Given the description of an element on the screen output the (x, y) to click on. 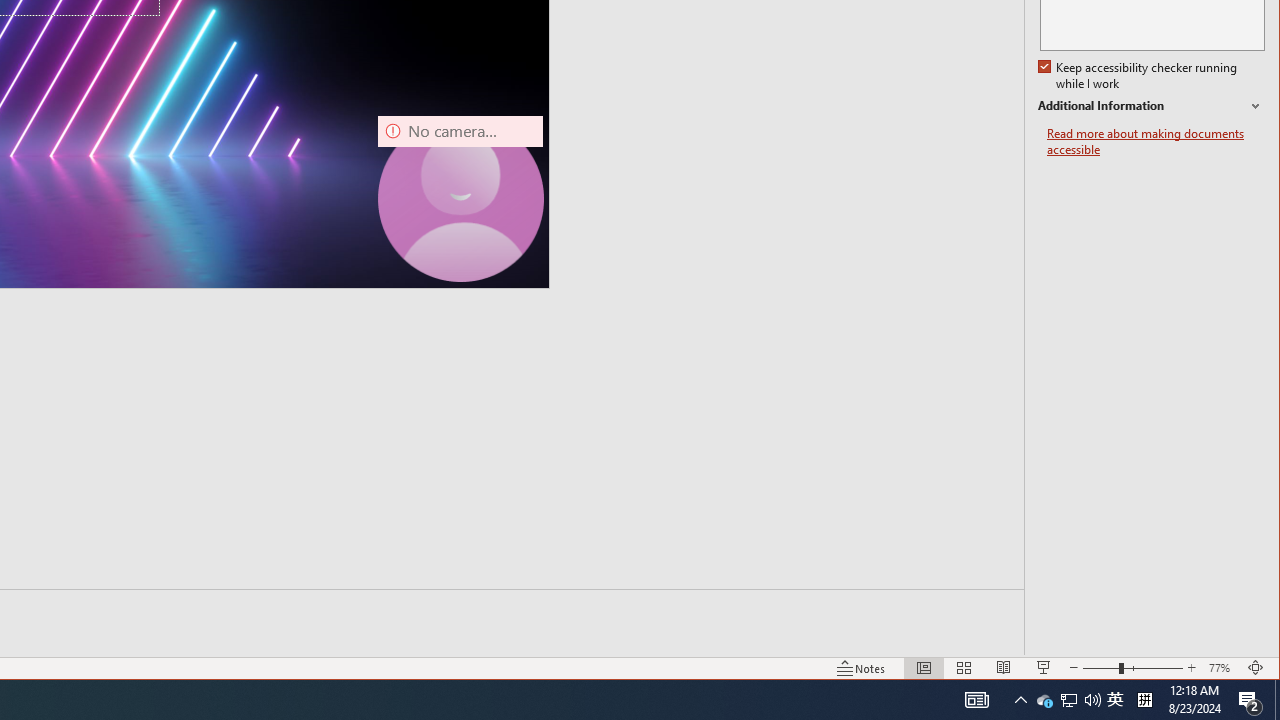
Keep accessibility checker running while I work (1044, 699)
Camera 7, No camera detected. (1139, 76)
User Promoted Notification Area (460, 197)
Show desktop (1069, 699)
Tray Input Indicator - Chinese (Simplified, China) (1068, 699)
Zoom 77% (1277, 699)
Additional Information (1115, 699)
